Given the description of an element on the screen output the (x, y) to click on. 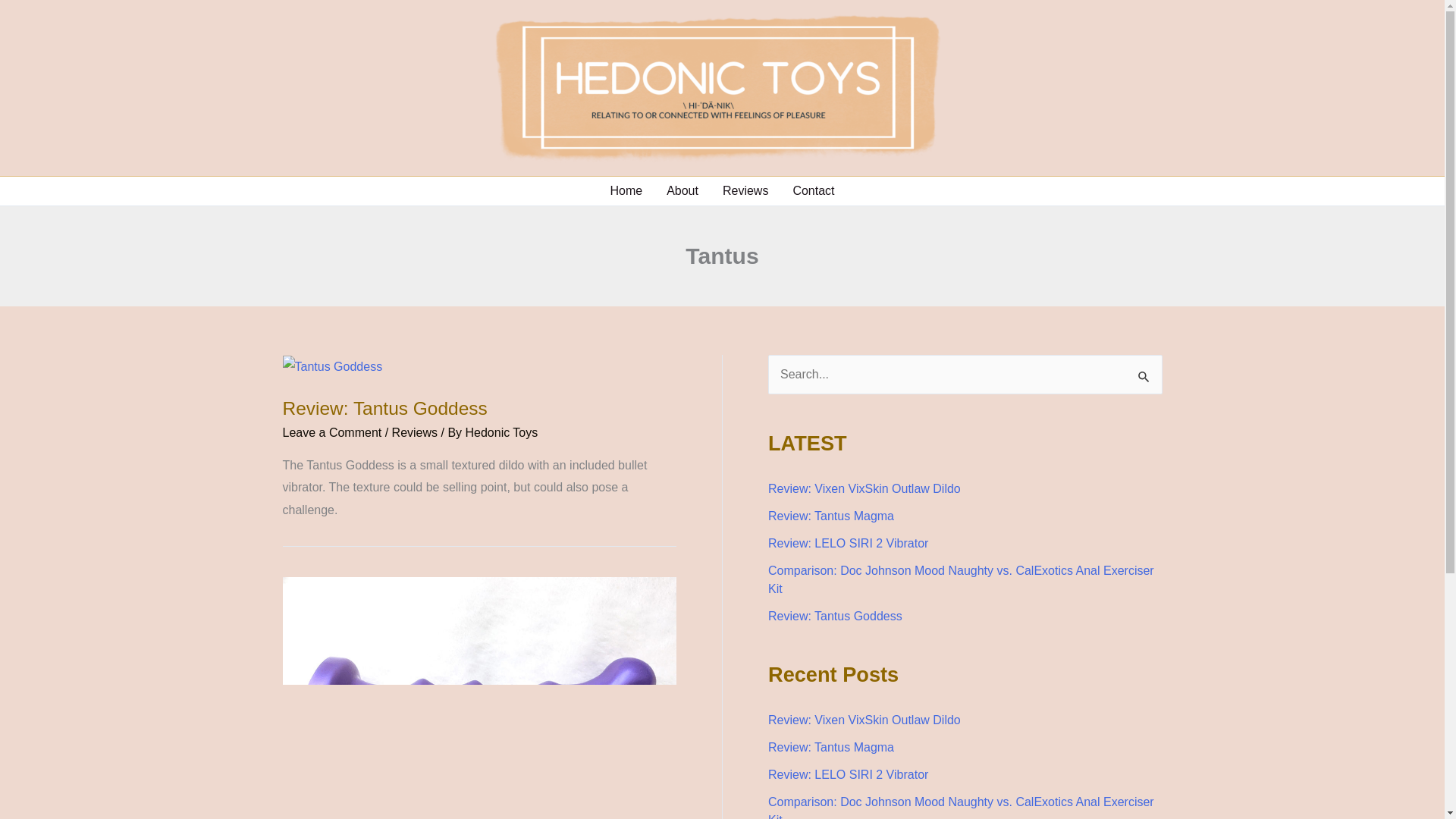
Review: Vixen VixSkin Outlaw Dildo (864, 488)
Review: Vixen VixSkin Outlaw Dildo (864, 719)
Hedonic Toys (501, 431)
Reviews (414, 431)
Leave a Comment (331, 431)
Contact (812, 190)
Review: LELO SIRI 2 Vibrator (848, 543)
Review: LELO SIRI 2 Vibrator (848, 774)
